Given the description of an element on the screen output the (x, y) to click on. 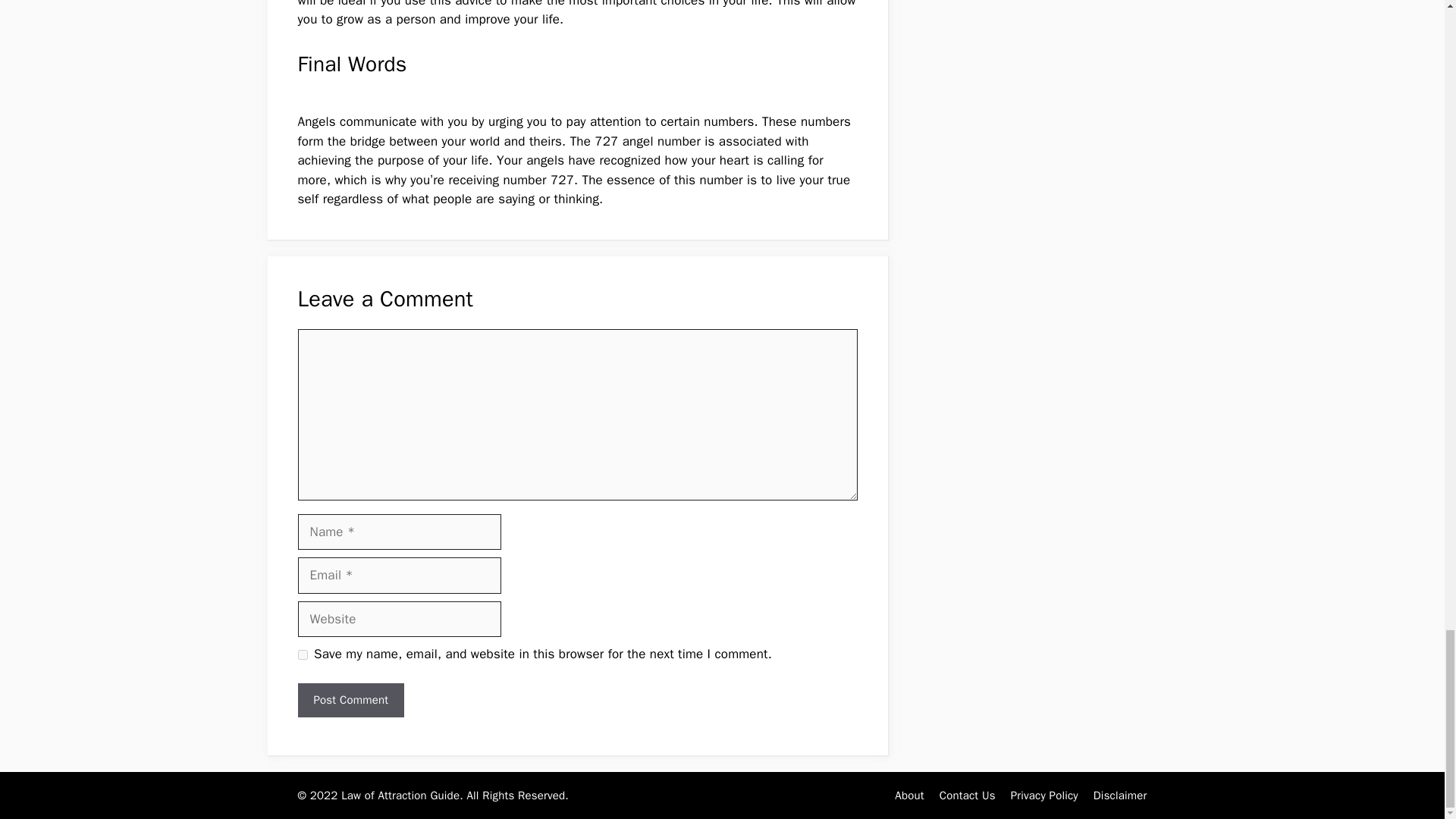
yes (302, 655)
Post Comment (350, 700)
Privacy Policy (1044, 795)
Post Comment (350, 700)
Disclaimer (1120, 795)
Contact Us (967, 795)
About (909, 795)
